Given the description of an element on the screen output the (x, y) to click on. 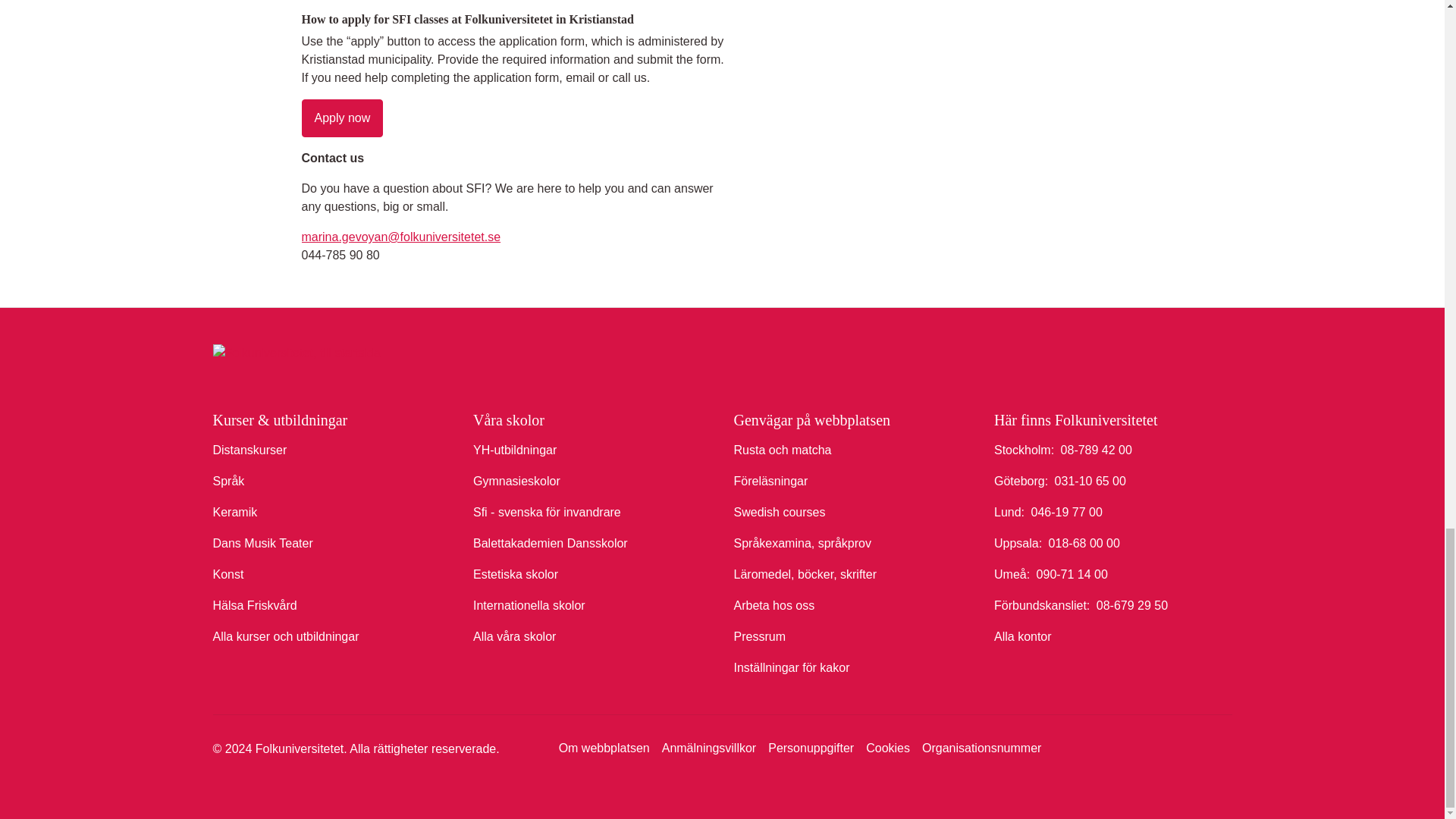
Apply now (342, 118)
Keramik (234, 512)
Distanskurser (249, 450)
